Given the description of an element on the screen output the (x, y) to click on. 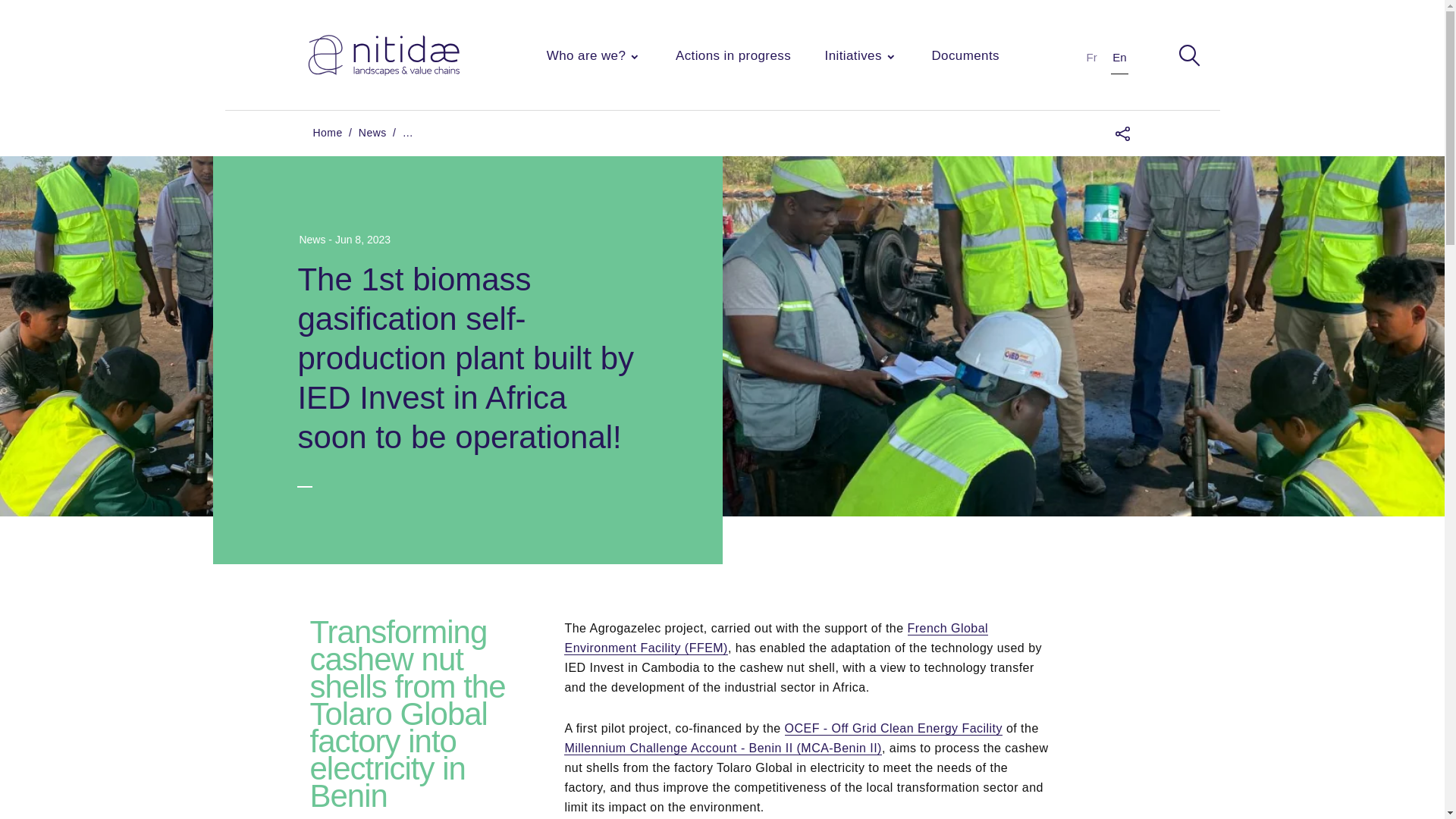
En (1118, 57)
Fr (1091, 57)
OCEF - Off Grid Clean Energy Facility (893, 728)
Home (327, 132)
Documents (964, 56)
Actions in progress (732, 56)
News (372, 132)
